Given the description of an element on the screen output the (x, y) to click on. 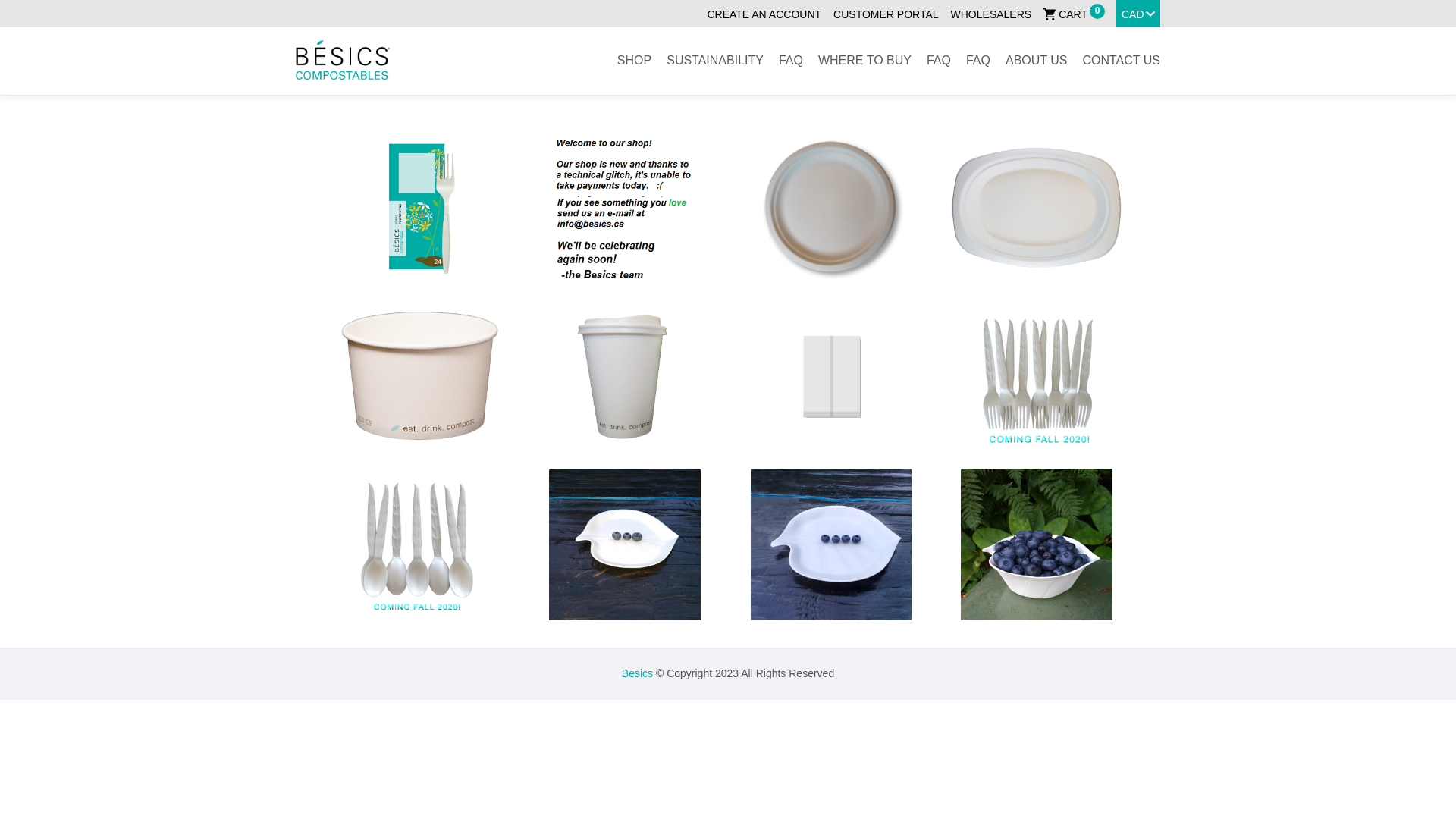
Dinner Leaf Plate - Ivory Colour Element type: hover (830, 544)
Soup Bowls Element type: hover (418, 375)
Small Leaf Bowl - Ivory Colour Element type: hover (1036, 544)
CUSTOMER PORTAL Element type: text (885, 13)
CART
0 Element type: text (1065, 13)
FAQ Element type: text (938, 60)
Small Leaf Plate - Ivory Colour Element type: hover (624, 544)
Large Fibreware Plate (dinner) Element type: hover (830, 207)
LeafFork Element type: hover (1036, 375)
Small Cup Element type: hover (624, 375)
WHOLESALERS Element type: text (991, 13)
FAQ Element type: text (978, 60)
LeafSpoon Element type: hover (418, 544)
Oval Fibreware Plate Element type: hover (1036, 207)
SHOP Element type: text (634, 60)
Besics Element type: text (636, 673)
A small note from the Besics team :) Element type: hover (624, 207)
CREATE AN ACCOUNT Element type: text (763, 13)
Sandwich & Snack Bags Element type: hover (830, 375)
Original Fork Element type: hover (418, 207)
WHERE TO BUY Element type: text (864, 60)
FAQ Element type: text (790, 60)
ABOUT US Element type: text (1036, 60)
CONTACT US Element type: text (1121, 60)
